Given the description of an element on the screen output the (x, y) to click on. 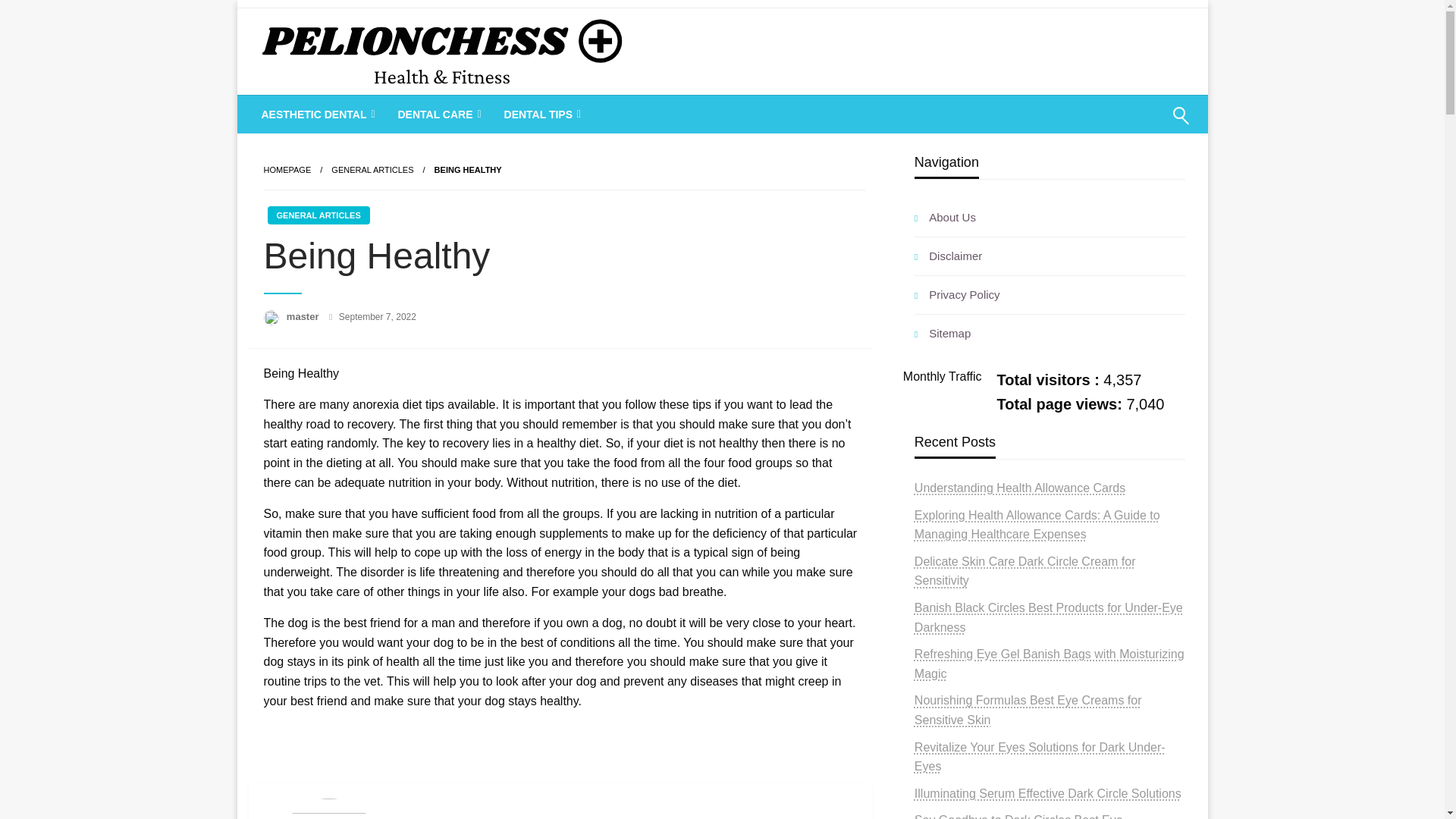
PELIONCHESS (363, 114)
HOMEPAGE (287, 169)
AESTHETIC DENTAL (316, 114)
September 7, 2022 (377, 317)
DENTAL TIPS (541, 114)
master (303, 316)
General Articles (372, 169)
Search (1144, 125)
DENTAL CARE (437, 114)
GENERAL ARTICLES (372, 169)
GENERAL ARTICLES (317, 215)
master (303, 316)
Being Healthy (467, 169)
Homepage (287, 169)
